Given the description of an element on the screen output the (x, y) to click on. 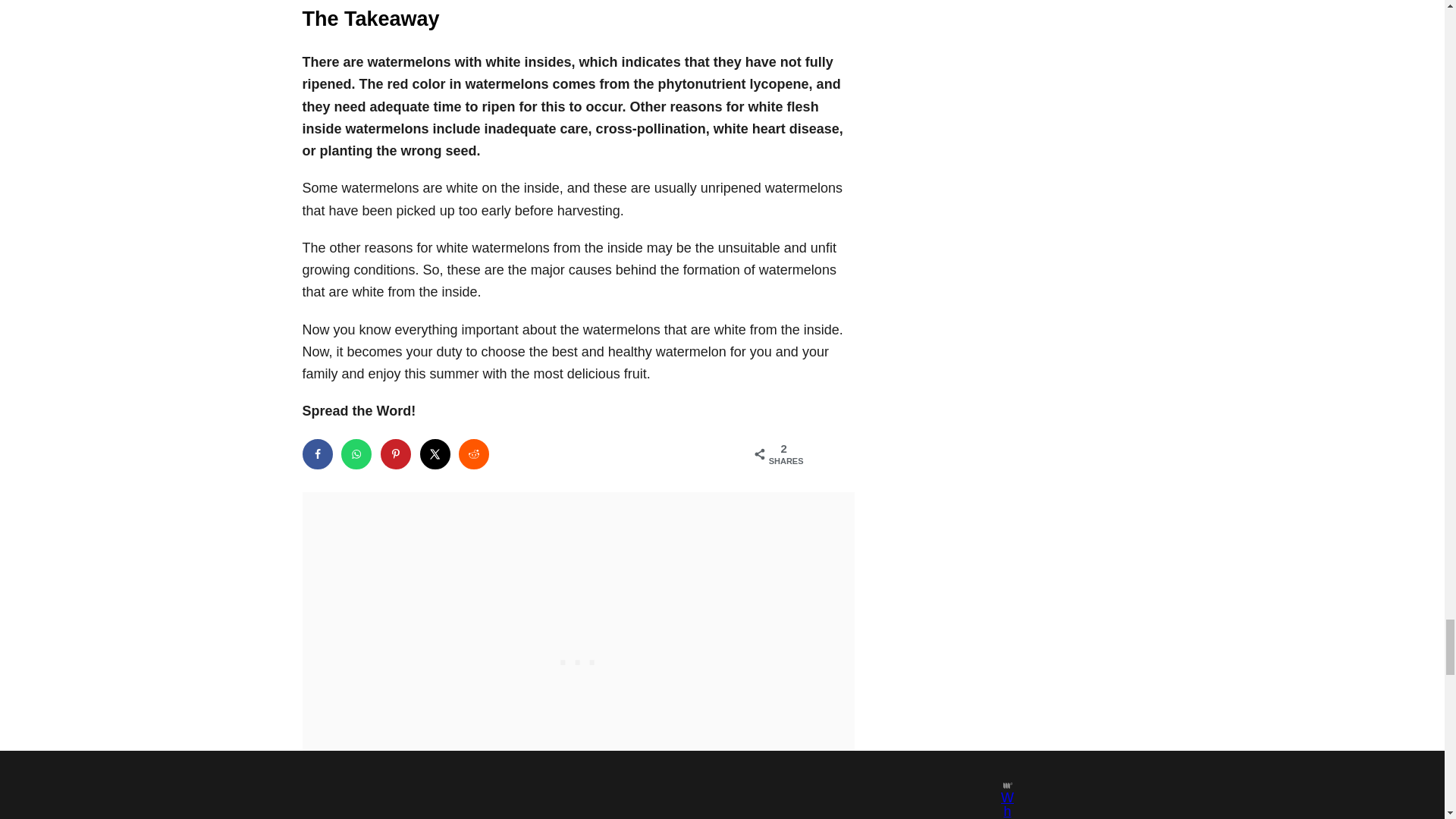
Share on X (434, 453)
Share on Facebook (316, 453)
Share on WhatsApp (355, 453)
Save to Pinterest (395, 453)
Share on Reddit (473, 453)
